Given the description of an element on the screen output the (x, y) to click on. 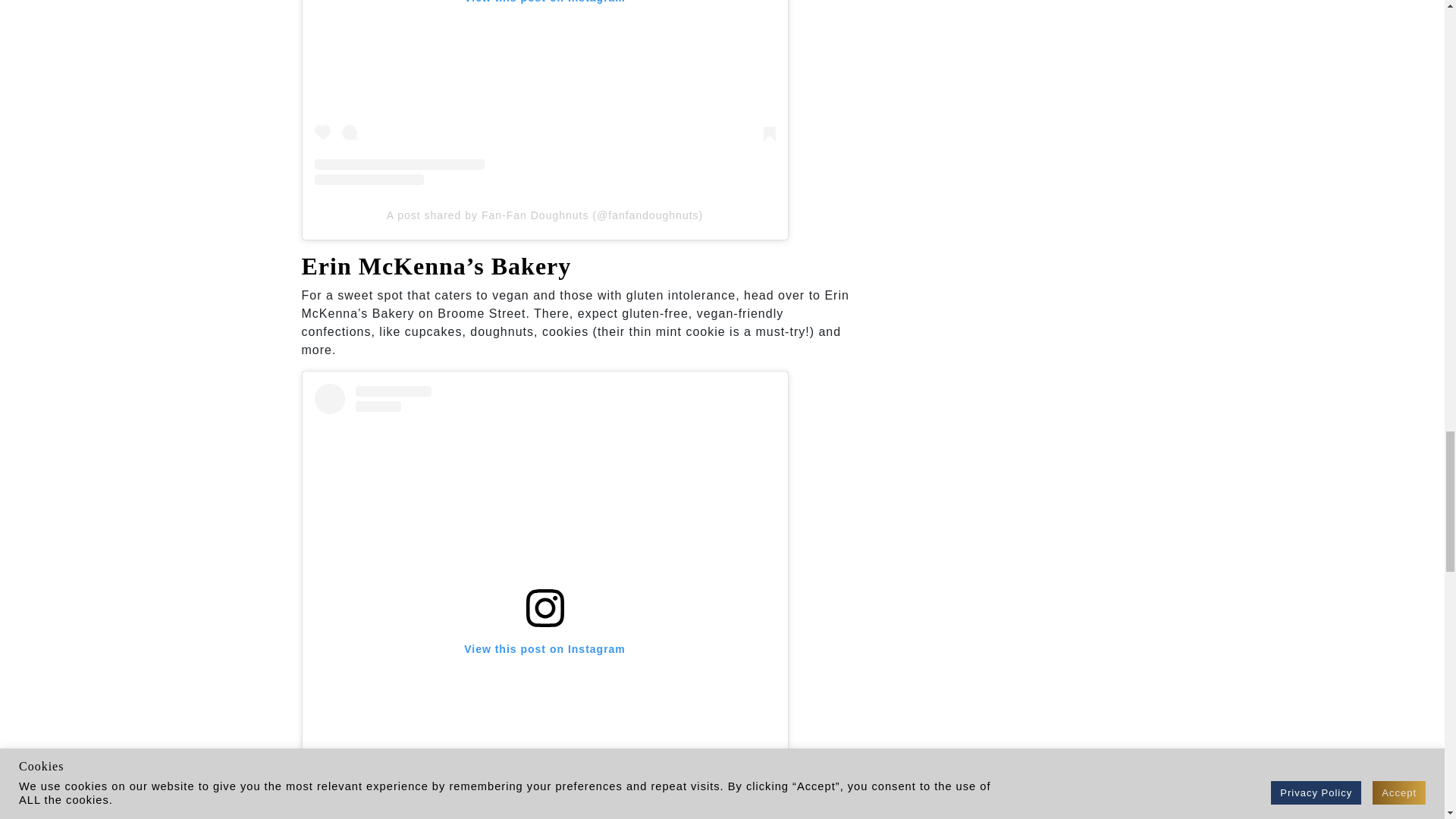
View this post on Instagram (544, 92)
